Given the description of an element on the screen output the (x, y) to click on. 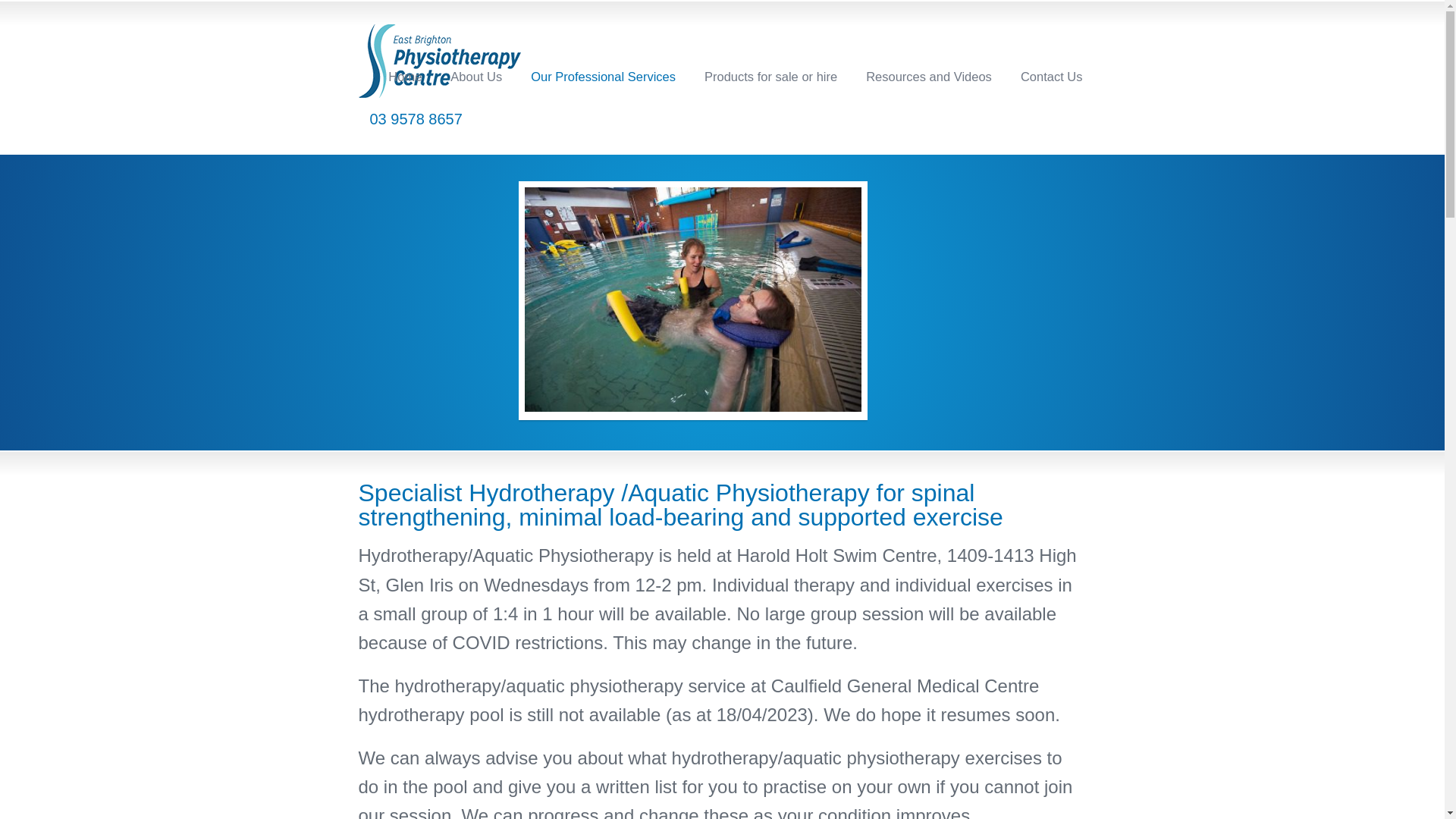
Home Element type: text (404, 75)
Our Professional Services Element type: text (603, 75)
Contact Us Element type: text (1051, 75)
Products for sale or hire Element type: text (770, 75)
Resources and Videos Element type: text (928, 75)
About Us Element type: text (475, 75)
